Given the description of an element on the screen output the (x, y) to click on. 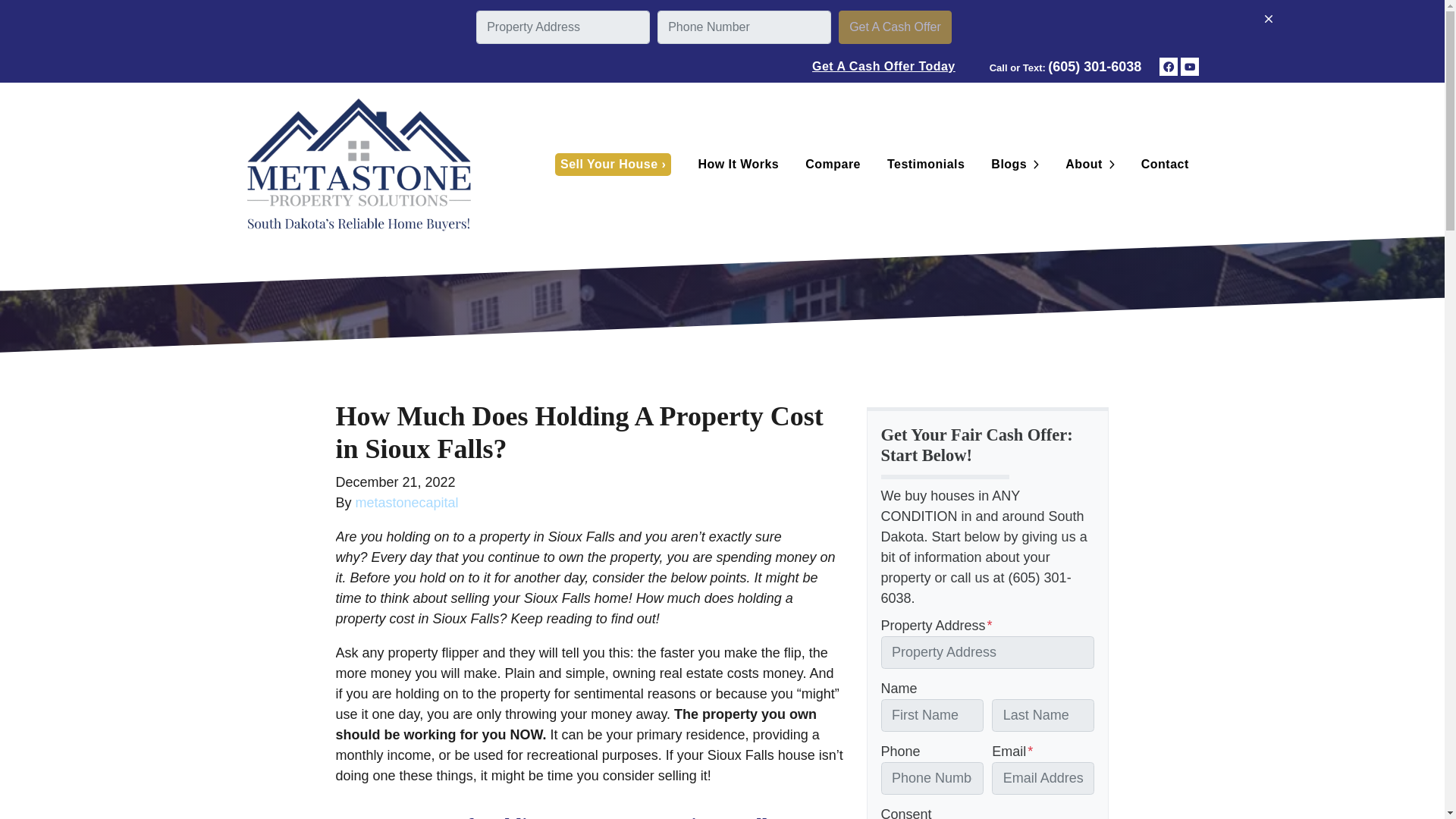
Get A Cash Offer (895, 27)
Blogs (1006, 163)
Get A Cash Offer Today (883, 66)
Facebook (1167, 66)
How It Works (738, 163)
Testimonials (925, 163)
Get A Cash Offer (895, 27)
Compare (832, 163)
Contact (1164, 163)
About (1081, 163)
YouTube (1189, 66)
